Given the description of an element on the screen output the (x, y) to click on. 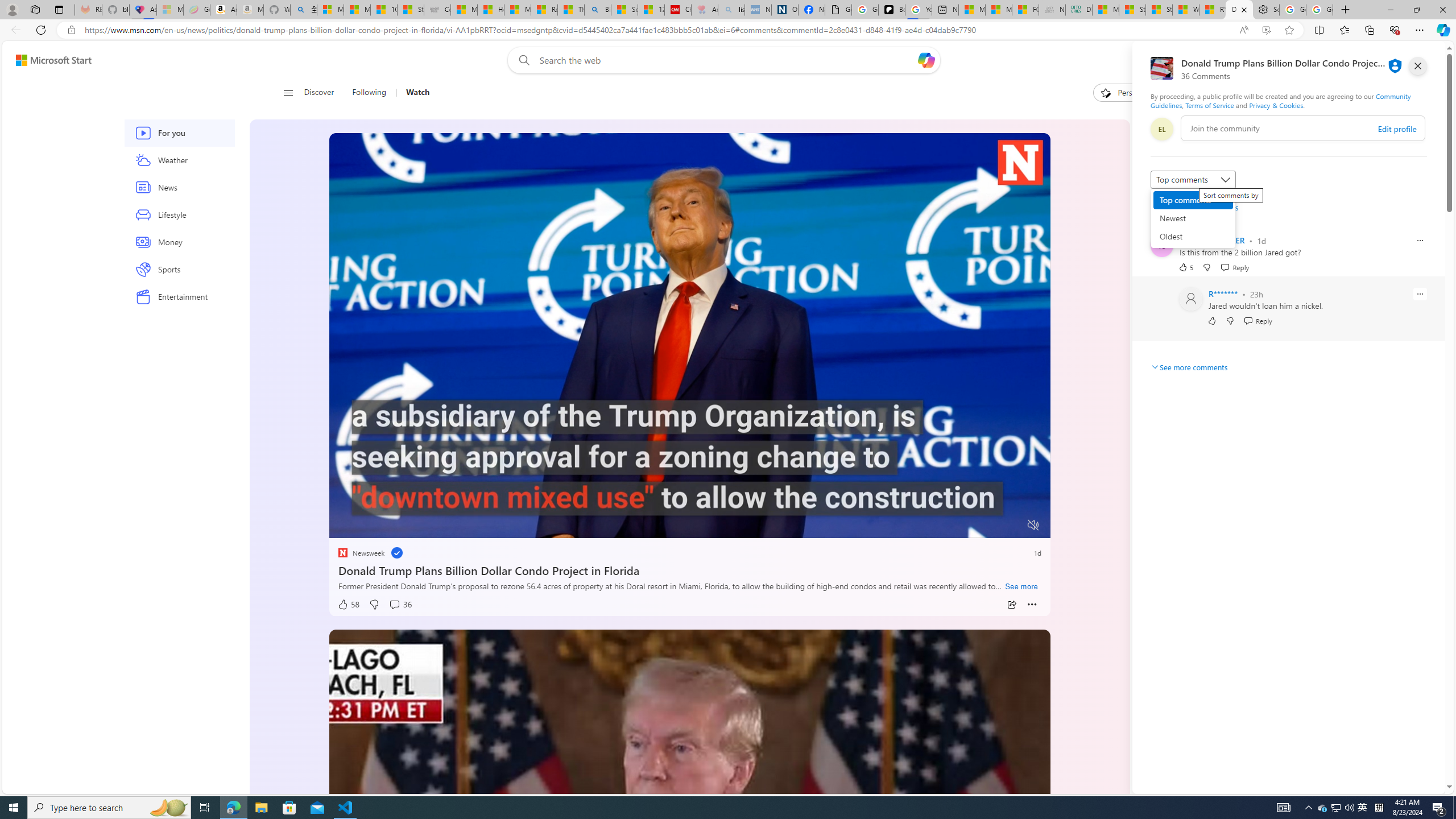
Stocks - MSN (1159, 9)
Privacy & Cookies (1276, 104)
Class: button-glyph (287, 92)
FOX News - MSN (1025, 9)
Ad (1158, 601)
Top comments (1193, 199)
Microsoft rewards (1374, 60)
Unmute (1033, 524)
How To Borrow From Your Home Without Touching Your Mortgage (1227, 226)
Terms of Service (1209, 104)
